Given the description of an element on the screen output the (x, y) to click on. 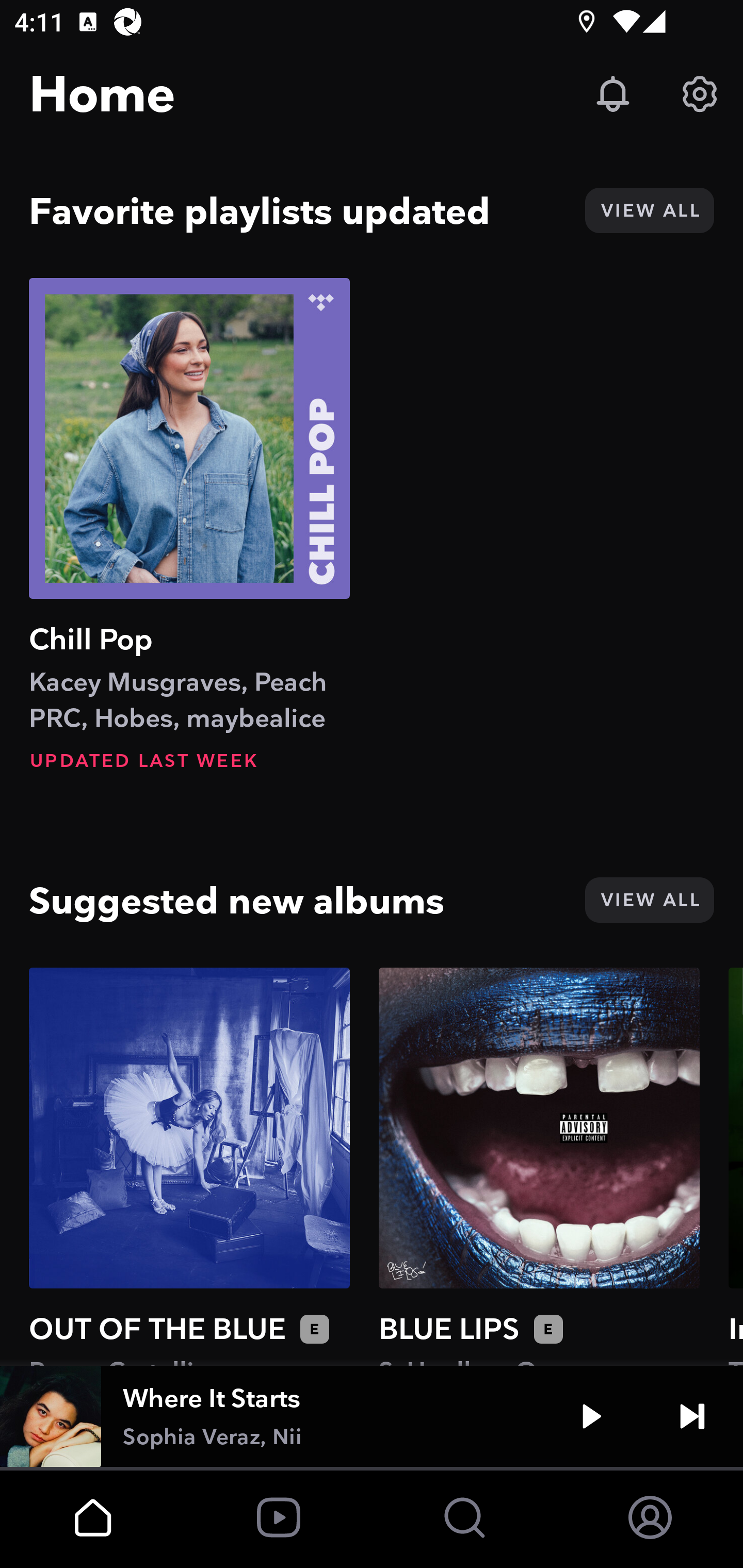
Updates (612, 93)
Settings (699, 93)
VIEW ALL (649, 210)
VIEW ALL (649, 899)
OUT OF THE BLUE Brynn Cartelli (188, 1166)
BLUE LIPS ScHoolboy Q (538, 1166)
Where It Starts Sophia Veraz, Nii Play (371, 1416)
Play (590, 1416)
